Given the description of an element on the screen output the (x, y) to click on. 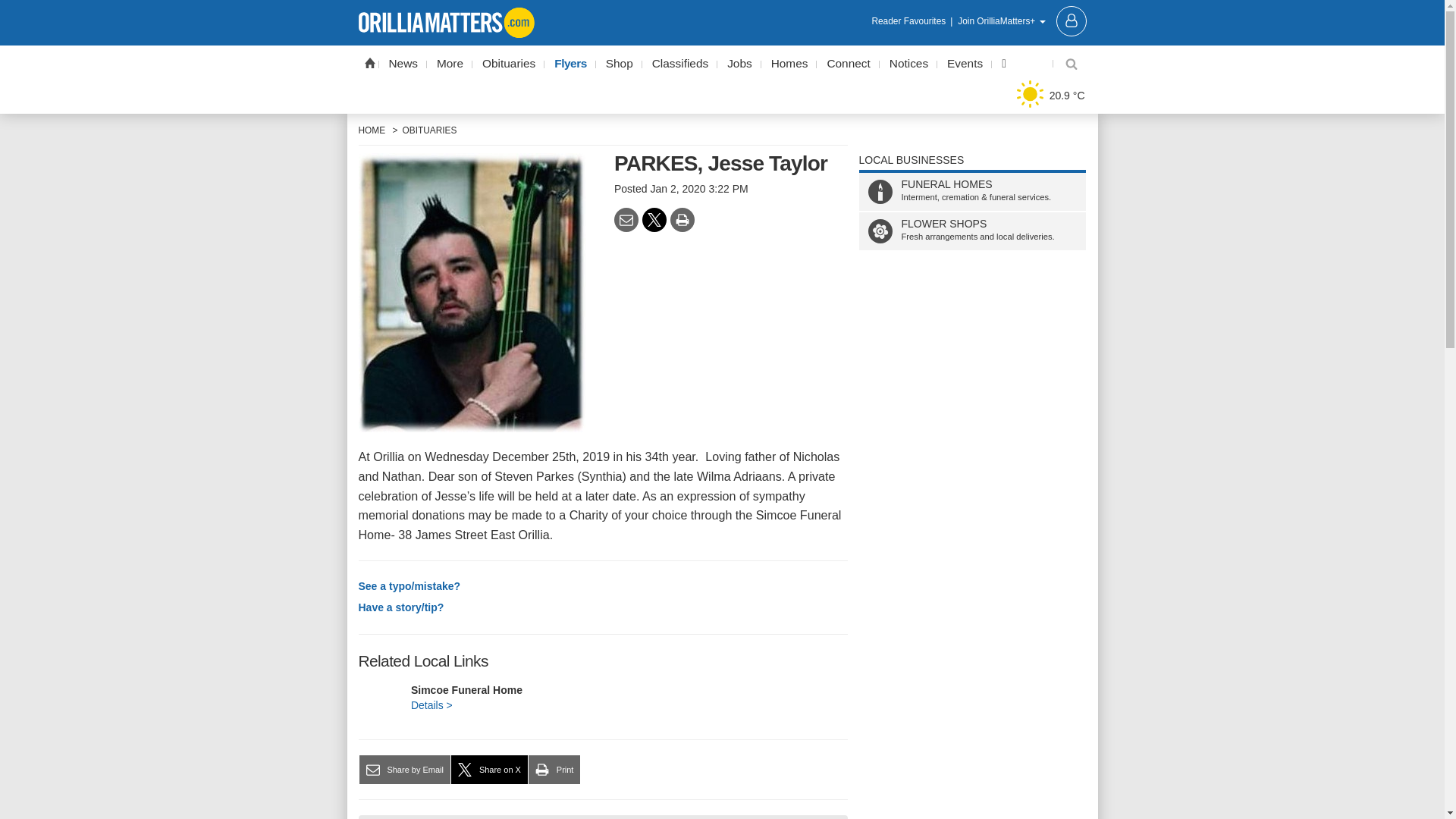
Reader Favourites (912, 21)
Home (368, 62)
News (403, 64)
